Given the description of an element on the screen output the (x, y) to click on. 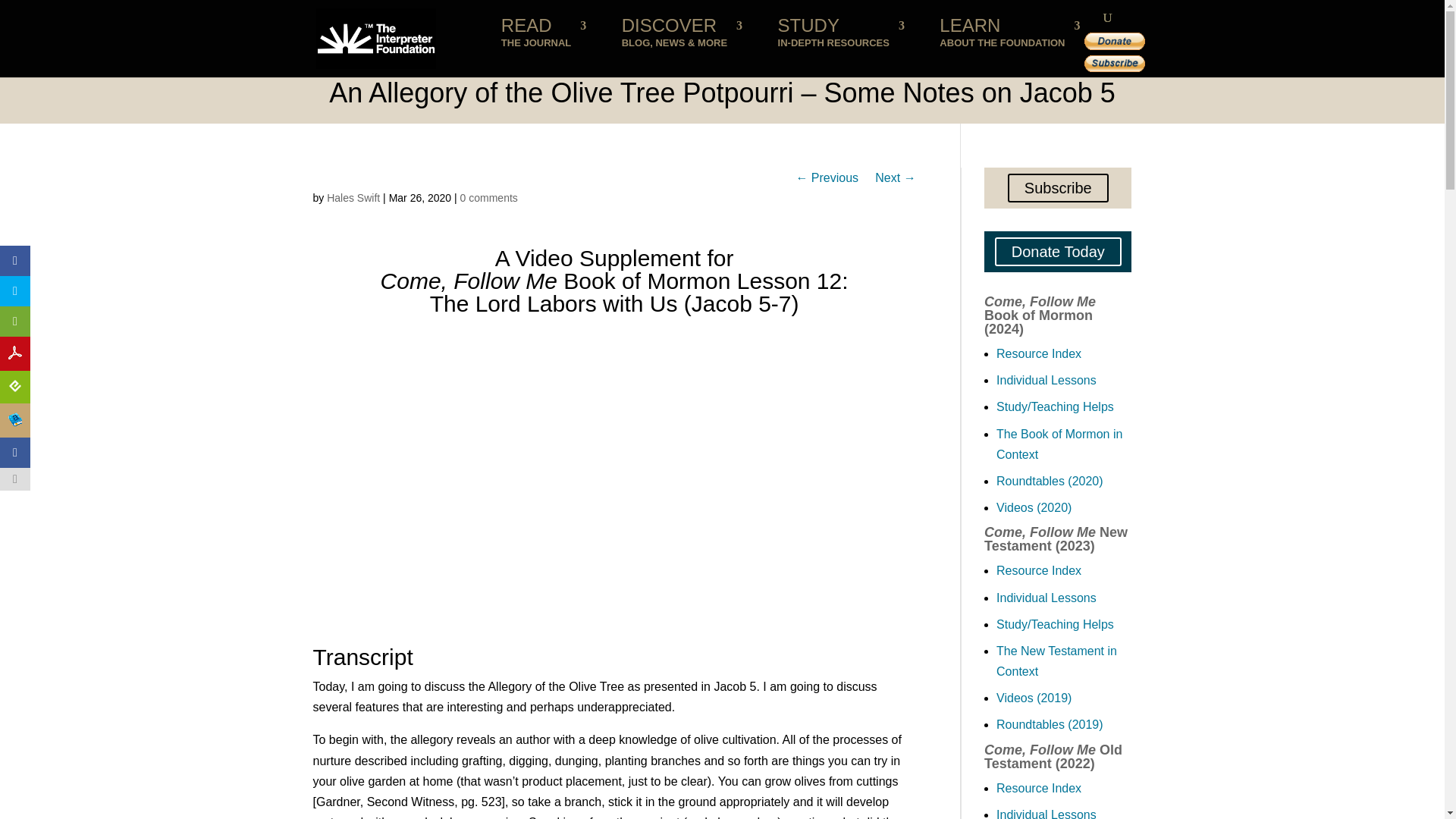
sidebar (543, 39)
sidebar (15, 321)
sidebar (15, 260)
Hales Swift (15, 291)
